Given the description of an element on the screen output the (x, y) to click on. 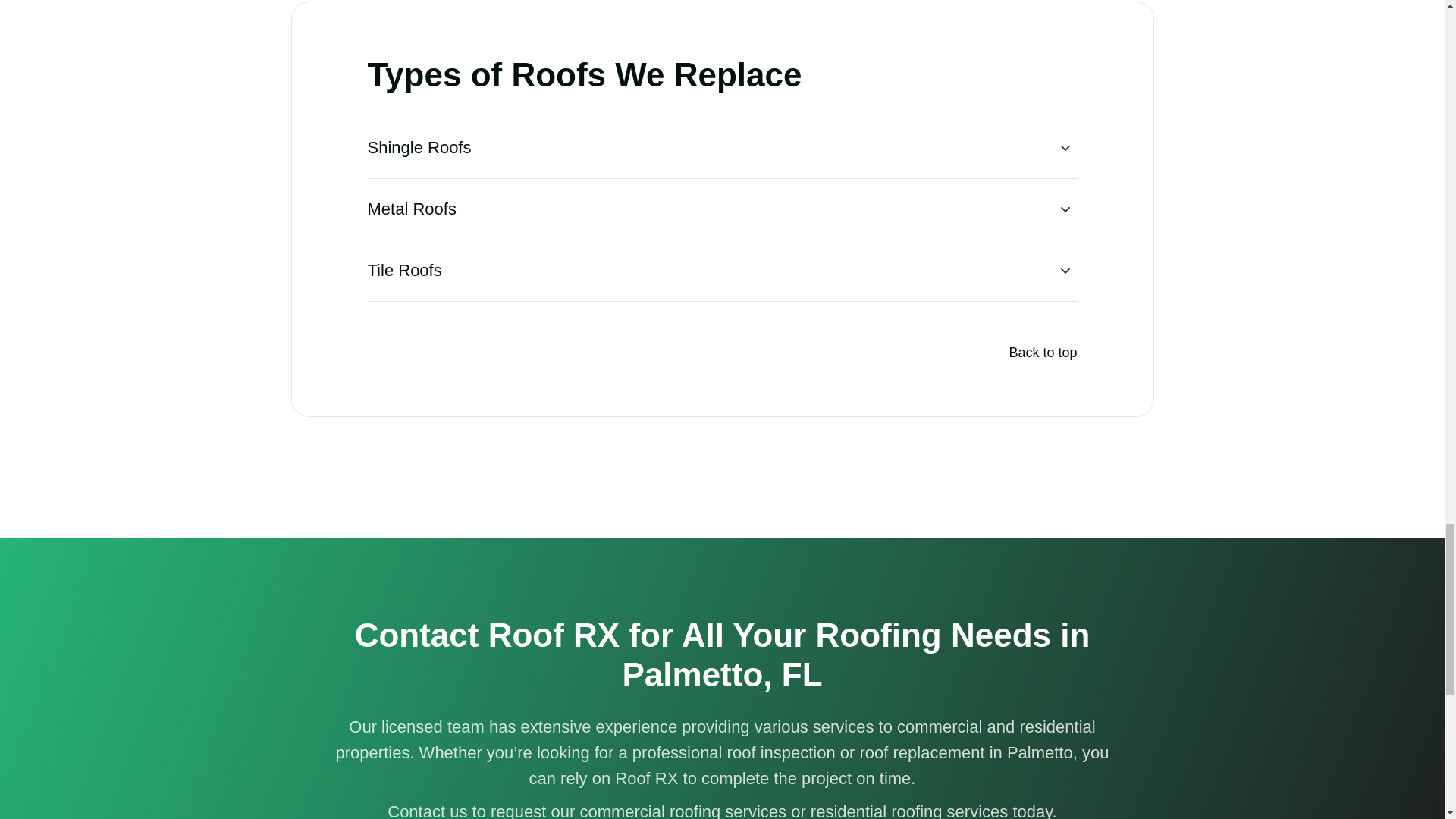
Contact us (427, 810)
Back to top (1043, 352)
